Given the description of an element on the screen output the (x, y) to click on. 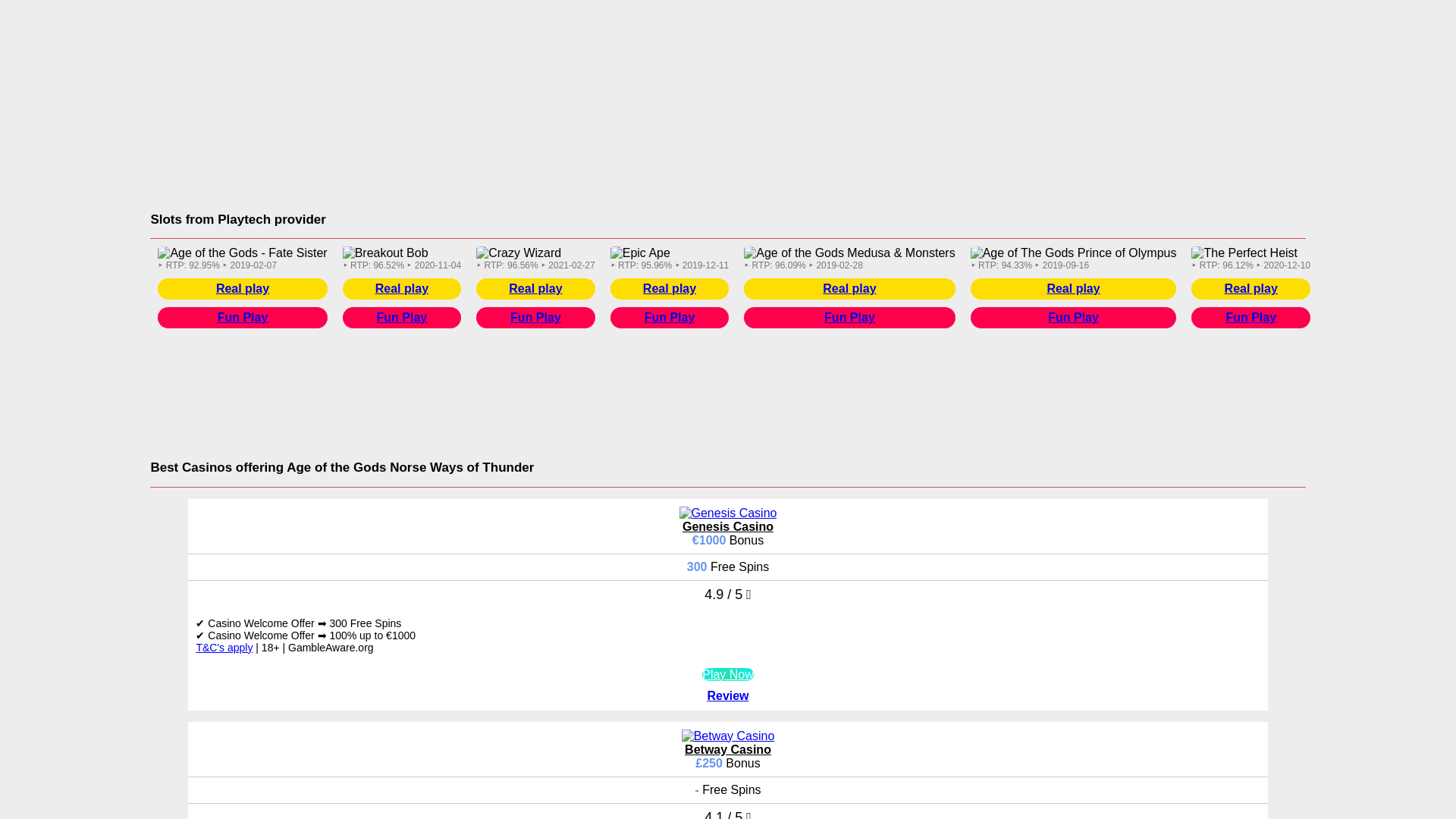
Epic Ape (639, 253)
Age of The Gods Prince of Olympus (1073, 253)
Age of the Gods - Fate Sister (241, 253)
The Perfect Heist (1244, 253)
Mayan Blocks (1368, 253)
Breakout Bob (385, 253)
Crazy Wizard (518, 253)
